Given the description of an element on the screen output the (x, y) to click on. 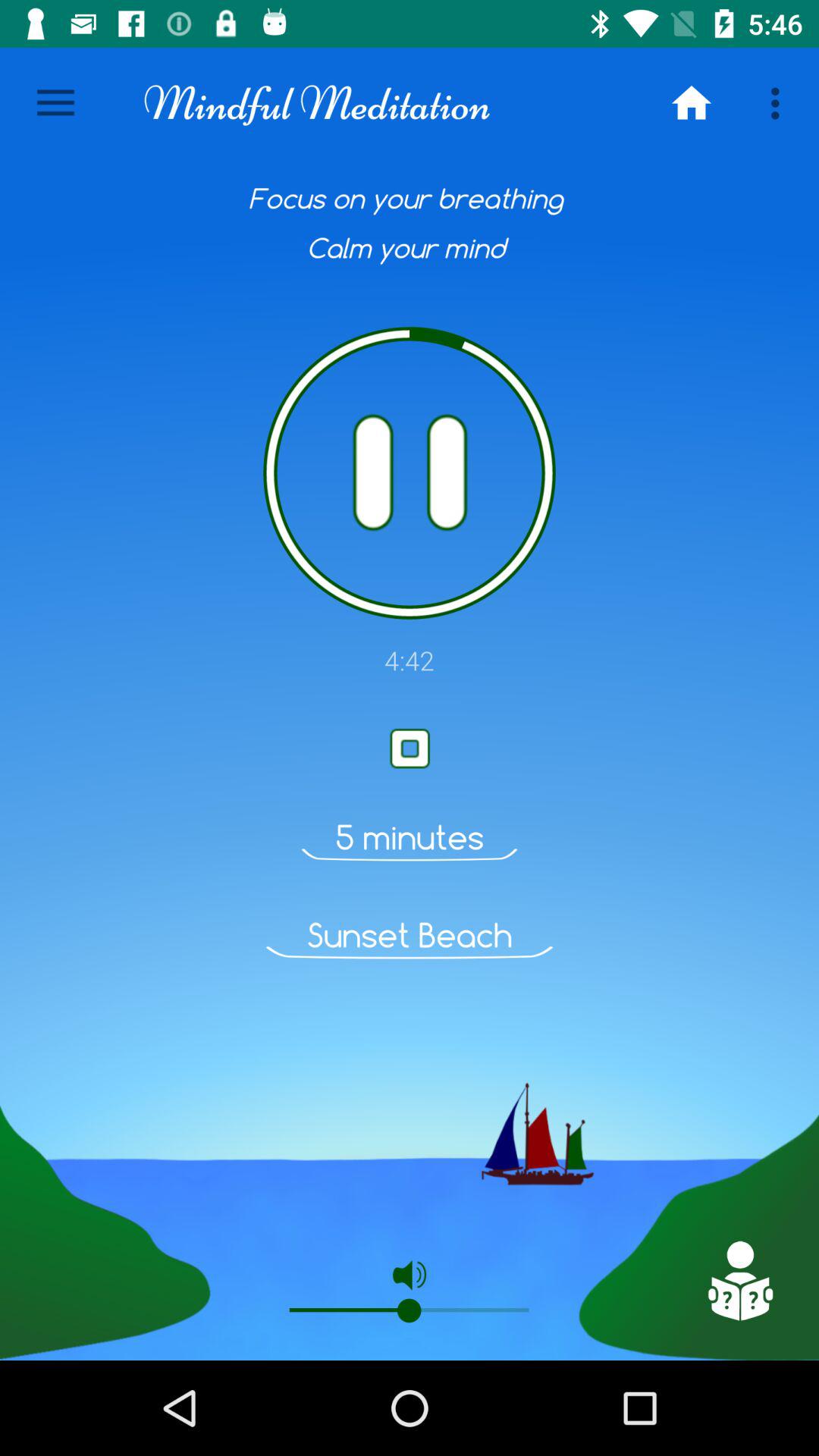
scroll until the   5 minutes   item (409, 837)
